Given the description of an element on the screen output the (x, y) to click on. 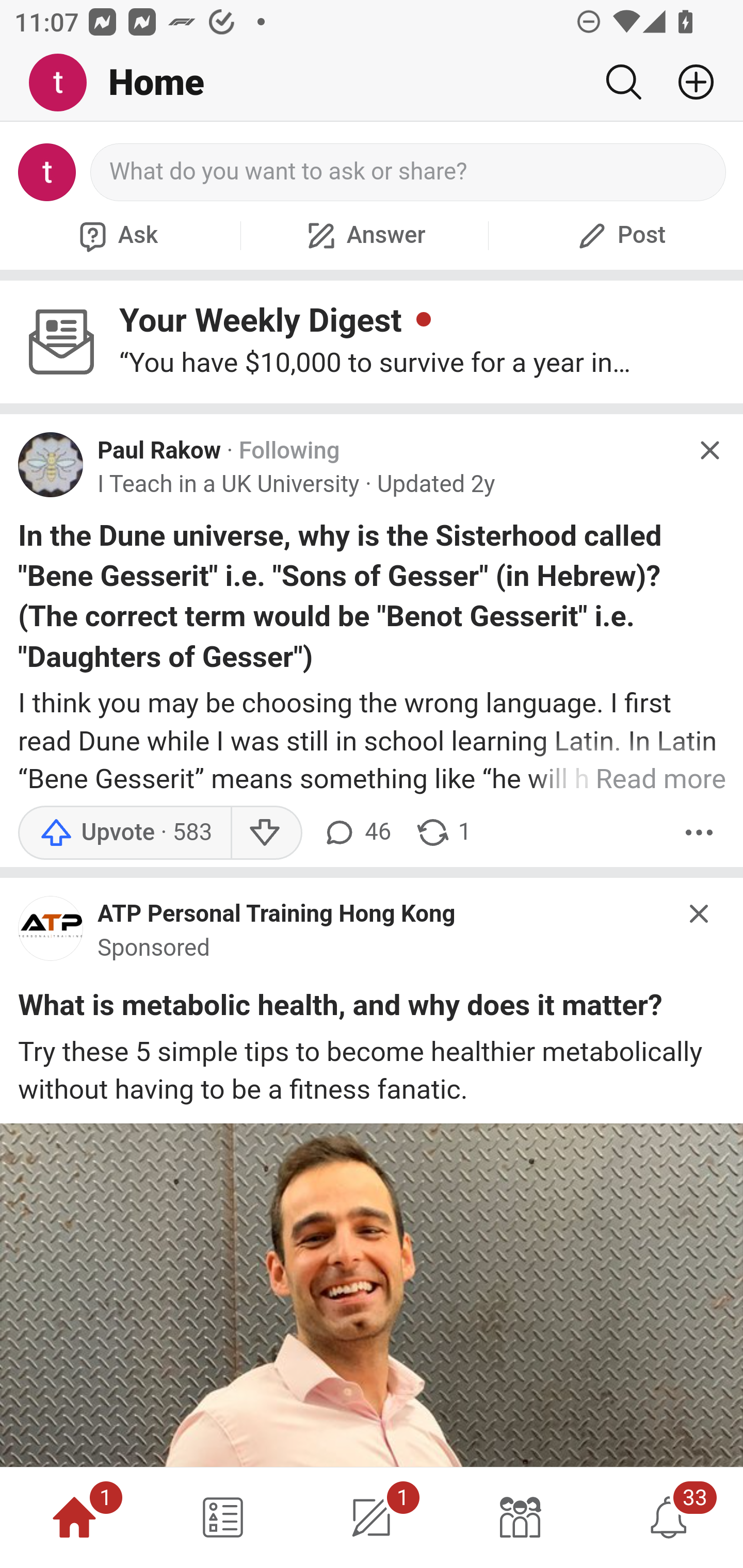
Me (64, 83)
Search (623, 82)
Add (688, 82)
What do you want to ask or share? (408, 172)
Ask (116, 234)
Answer (364, 234)
Post (618, 234)
Hide (709, 449)
Profile photo for Paul Rakow (50, 465)
Paul Rakow (159, 451)
Following (289, 451)
Updated 2y Updated  2 y (435, 484)
Upvote (124, 831)
Downvote (266, 831)
46 comments (356, 831)
1 share (443, 831)
More (699, 831)
Hide (699, 914)
main-qimg-1f396d5a5e054ddd9a425d683de3a2f9 (50, 932)
ATP Personal Training Hong Kong (276, 914)
Sponsored (154, 947)
What is metabolic health, and why does it matter? (339, 1008)
1 (371, 1517)
33 (668, 1517)
